Given the description of an element on the screen output the (x, y) to click on. 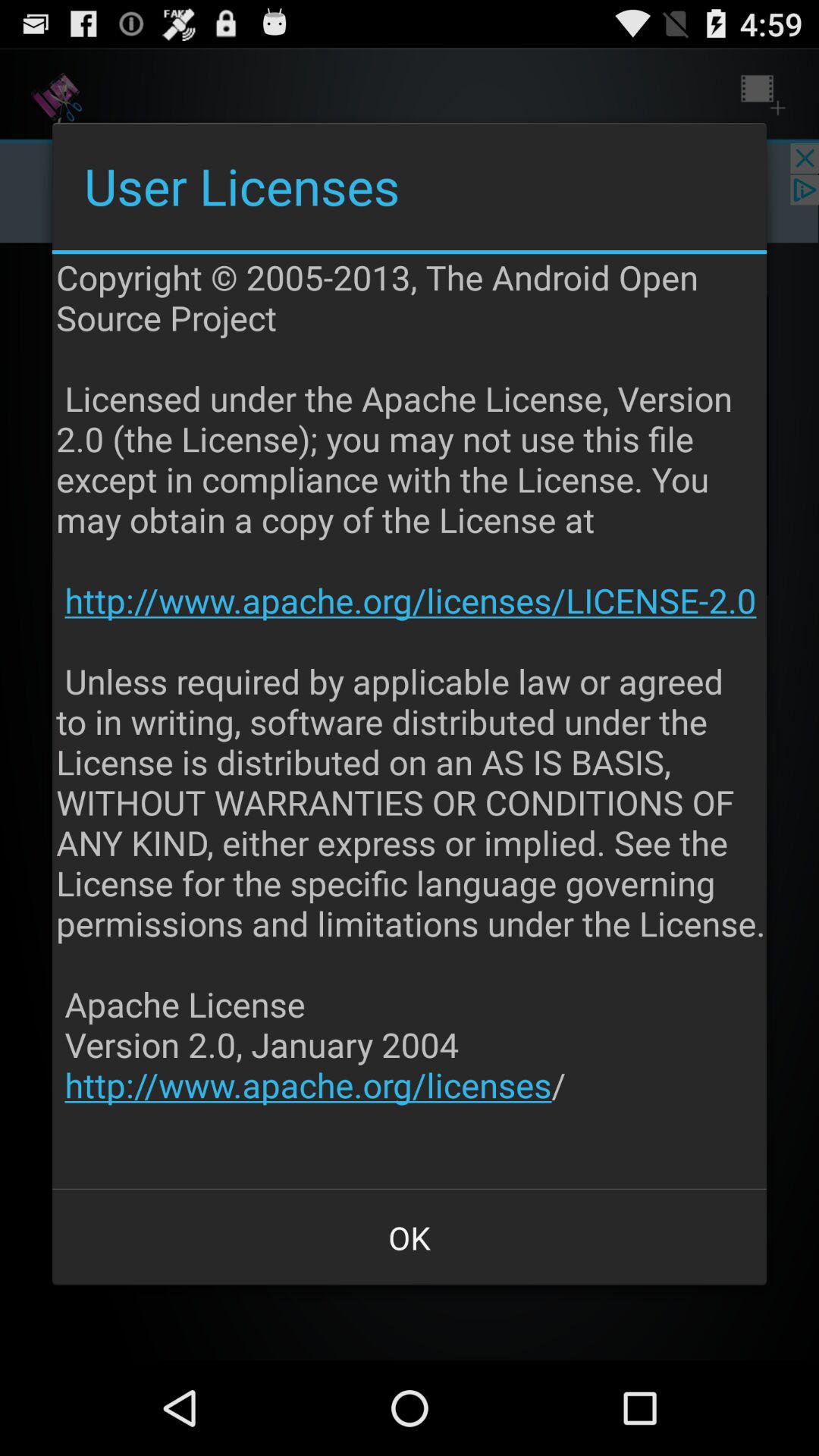
launch the copyright 2005 2013 (411, 721)
